Given the description of an element on the screen output the (x, y) to click on. 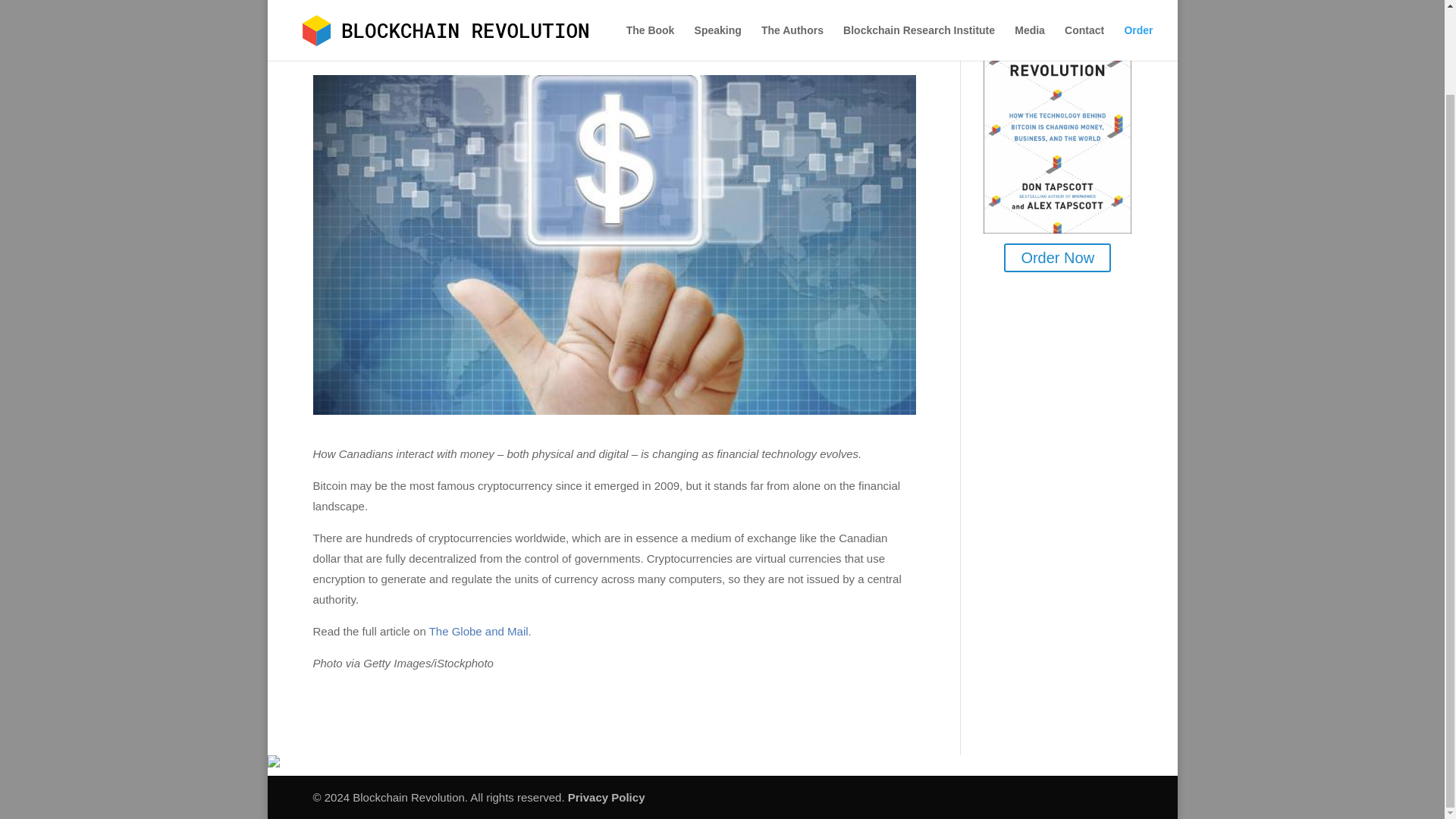
Privacy Policy (606, 797)
Order Now (1057, 257)
The Globe and Mail. (480, 631)
